Given the description of an element on the screen output the (x, y) to click on. 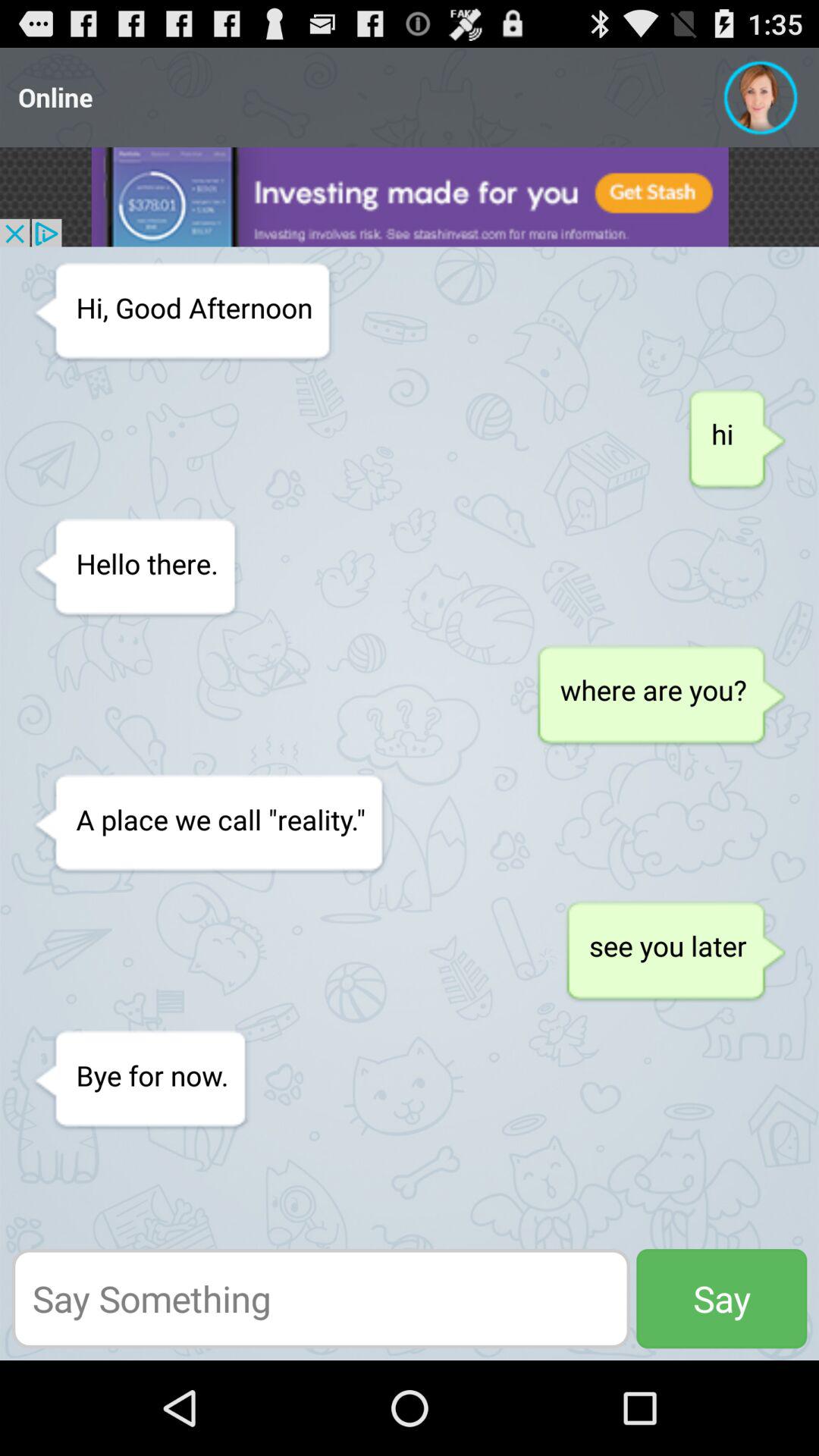
reply (320, 1298)
